Given the description of an element on the screen output the (x, y) to click on. 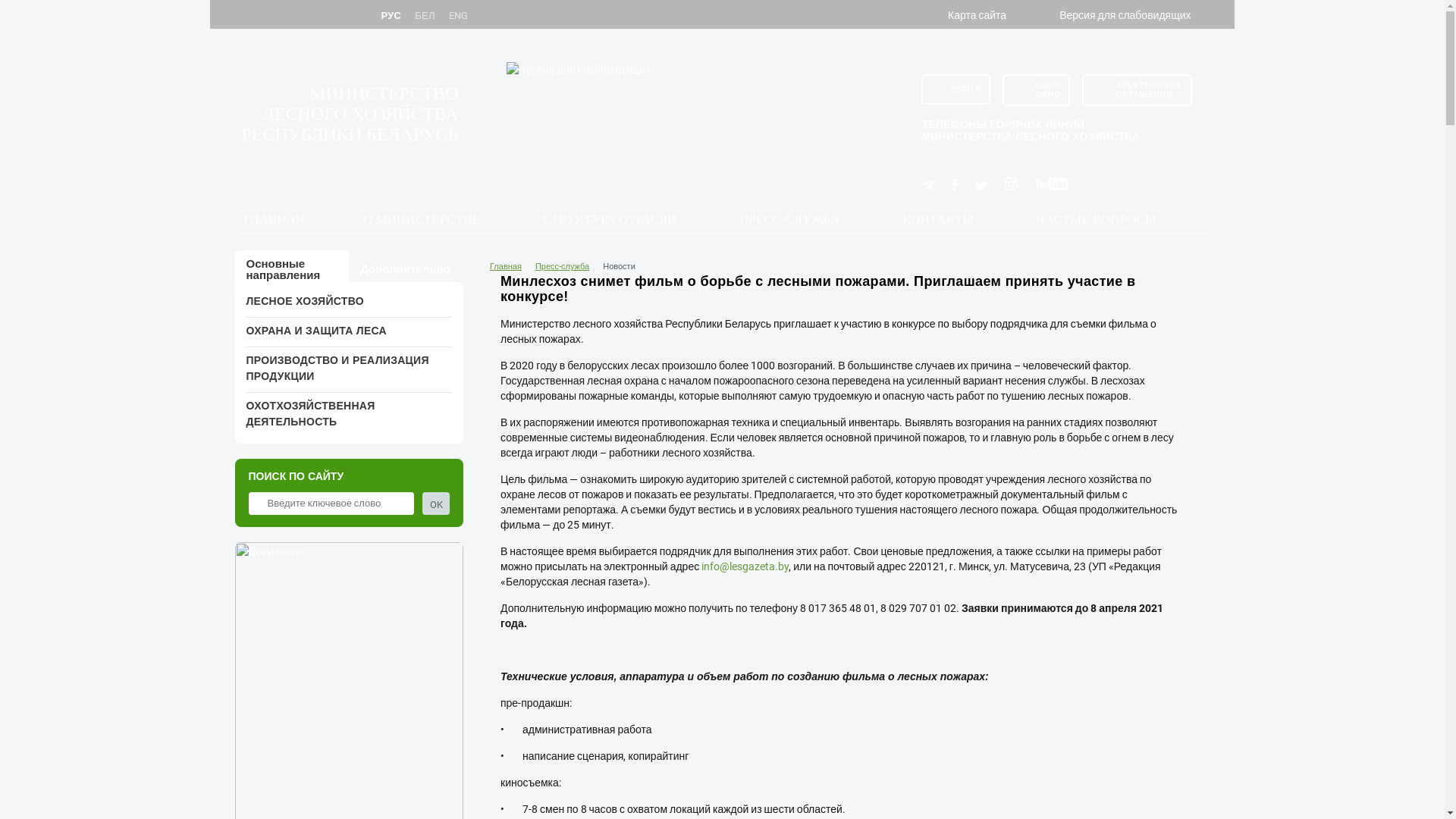
info@lesgazeta.by Element type: text (744, 566)
OK Element type: text (435, 503)
ENG Element type: text (458, 16)
